Given the description of an element on the screen output the (x, y) to click on. 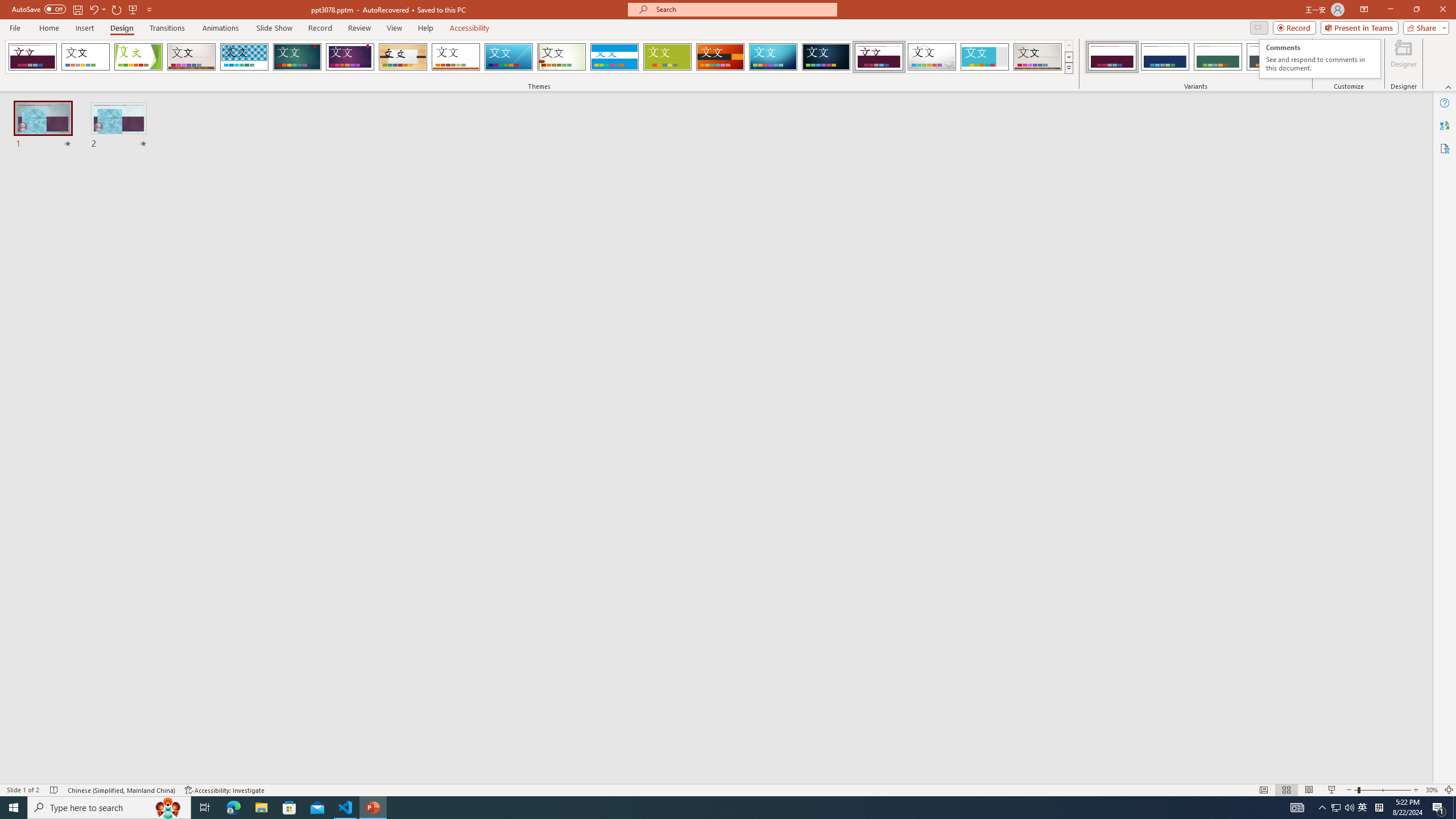
Dividend Variant 3 (1217, 56)
Dividend Variant 2 (1164, 56)
Slide Size (1328, 58)
Zoom 30% (1431, 790)
Ion Boardroom (350, 56)
